Given the description of an element on the screen output the (x, y) to click on. 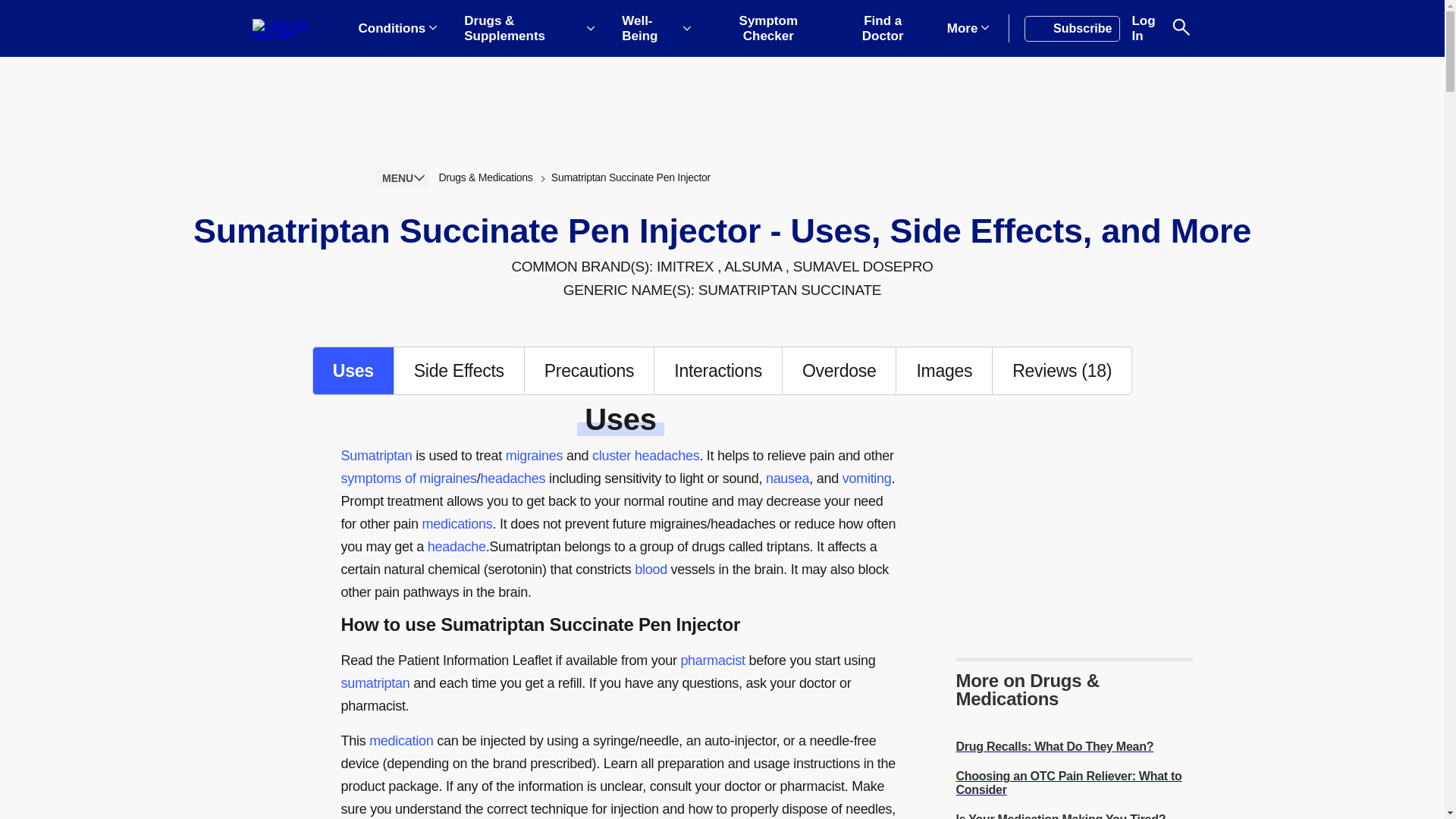
Conditions (397, 28)
